Given the description of an element on the screen output the (x, y) to click on. 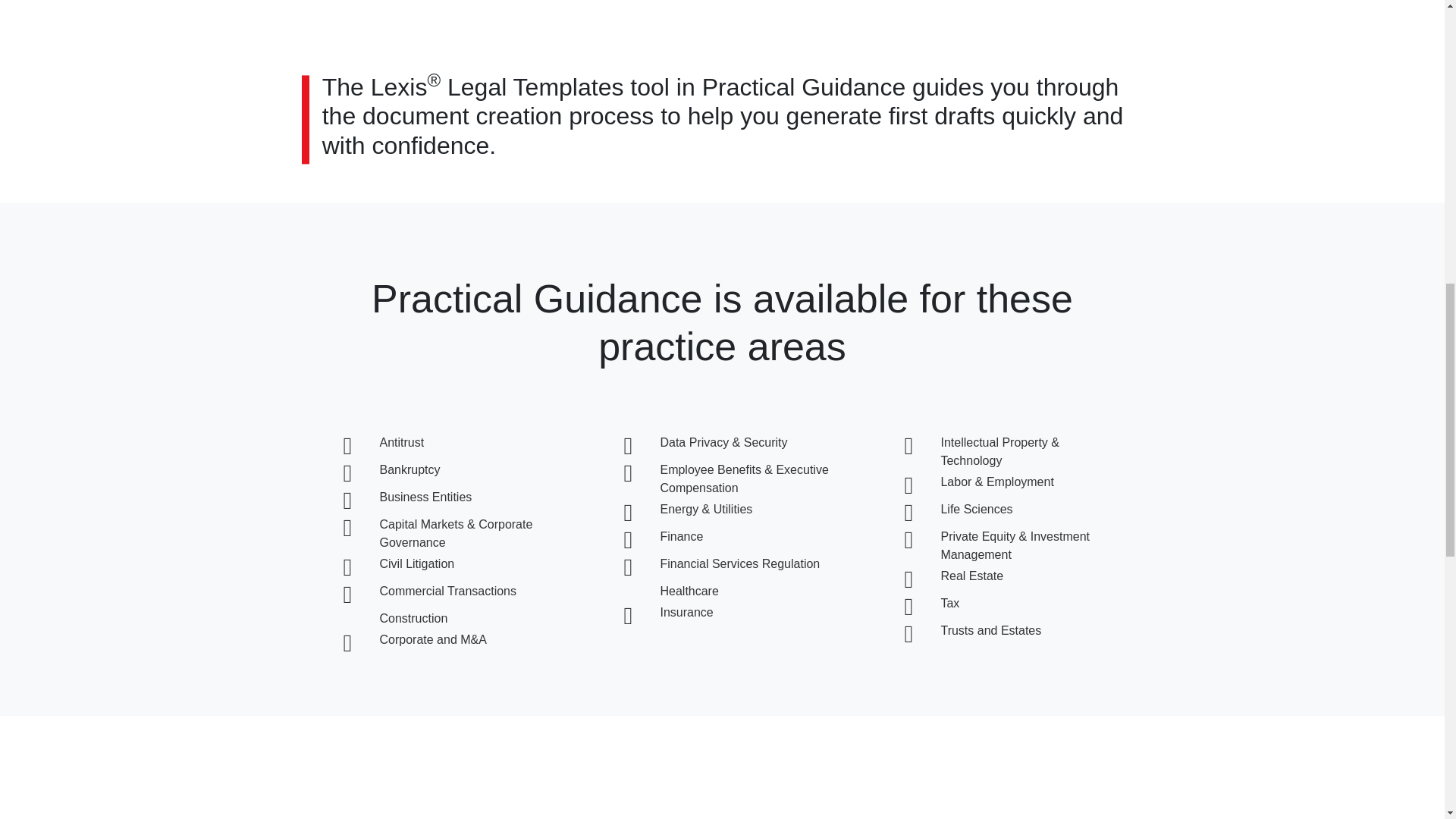
Financial Services Regulation (739, 563)
Business Entities (424, 496)
Commercial Transactions (447, 590)
